Given the description of an element on the screen output the (x, y) to click on. 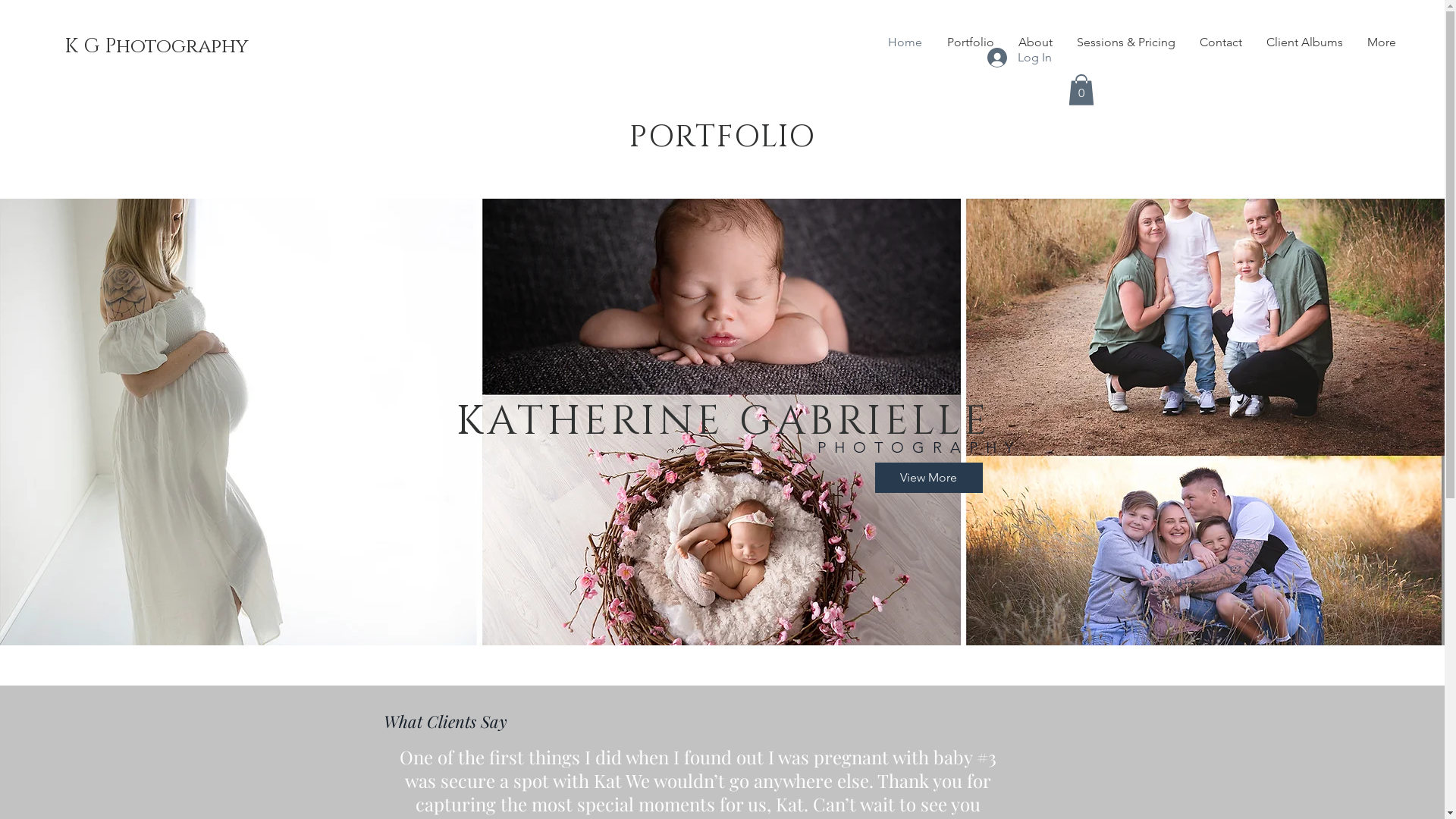
0 Element type: text (1080, 89)
About Element type: text (1035, 42)
Contact Element type: text (1220, 42)
Portfolio Element type: text (970, 42)
View More Element type: text (928, 477)
K G Photography Element type: text (155, 46)
Log In Element type: text (1019, 57)
Client Albums Element type: text (1304, 42)
Sessions & Pricing Element type: text (1125, 42)
Home Element type: text (904, 42)
